Given the description of an element on the screen output the (x, y) to click on. 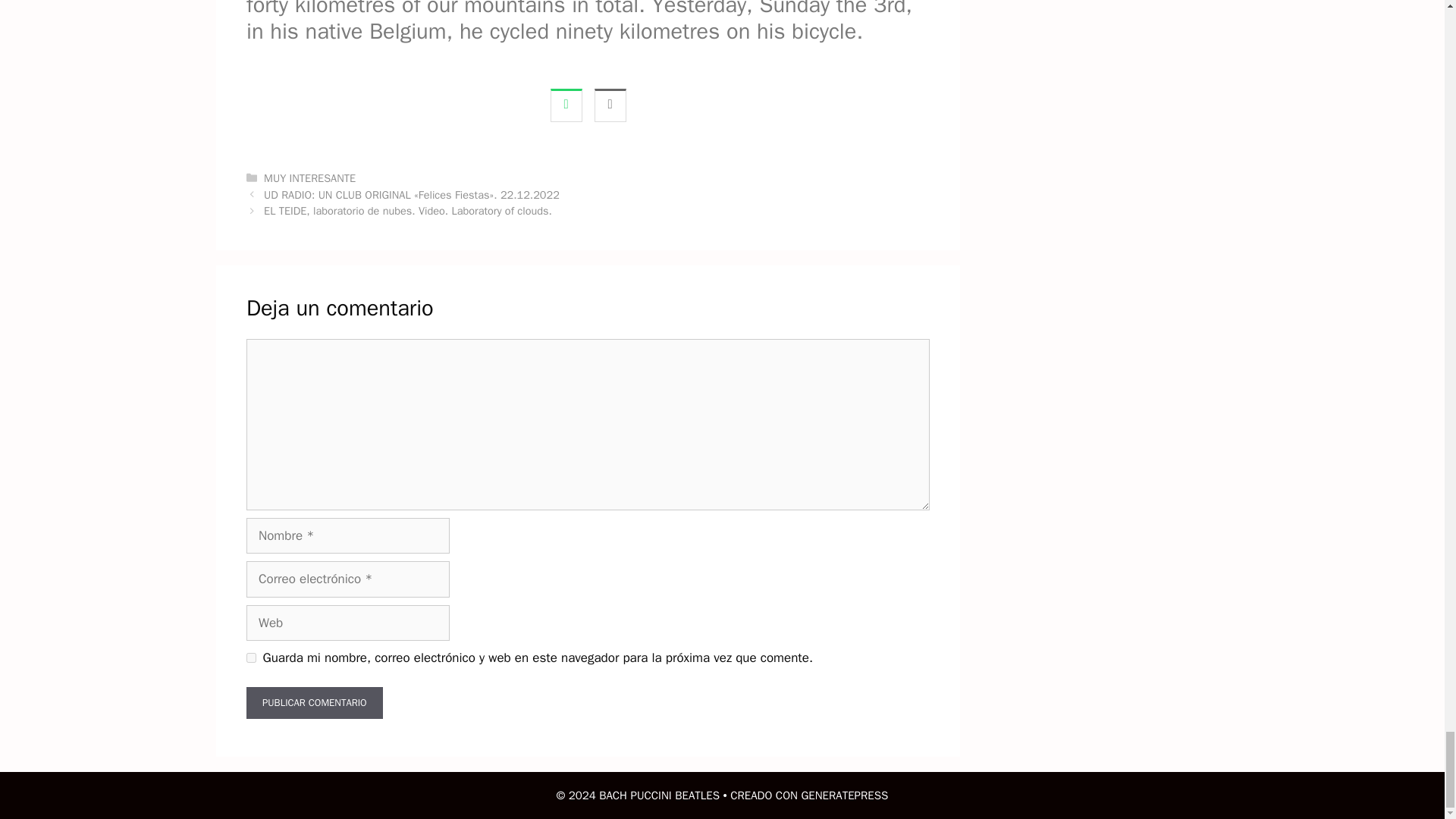
Publicar comentario (314, 703)
MUY INTERESANTE (309, 178)
yes (251, 657)
Publicar comentario (314, 703)
EL TEIDE, laboratorio de nubes. Video. Laboratory of clouds. (407, 210)
